Given the description of an element on the screen output the (x, y) to click on. 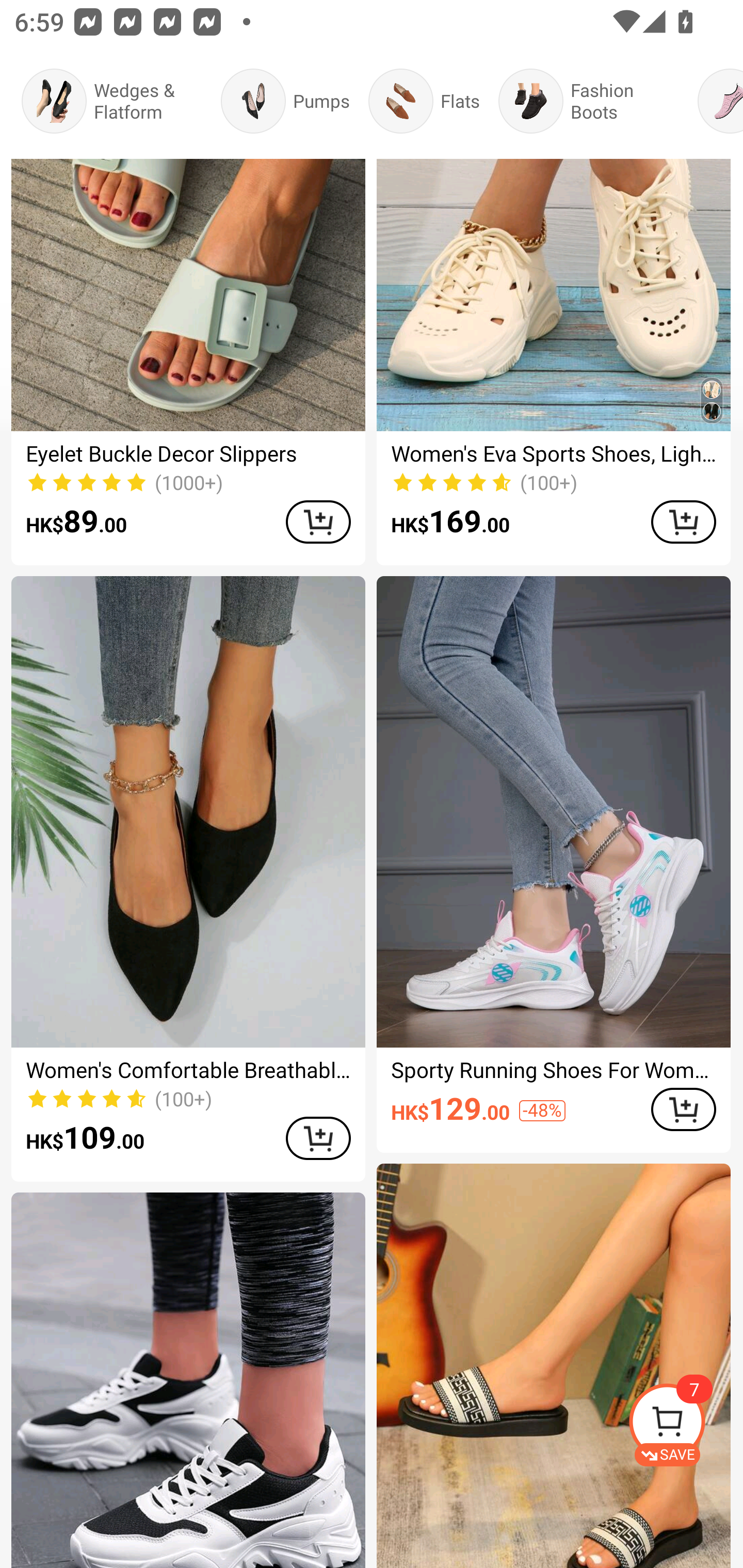
Wedges & Flatform (111, 100)
Pumps (284, 100)
Flats (423, 100)
Fashion Boots (588, 100)
ADD TO CART (318, 522)
ADD TO CART (683, 522)
ADD TO CART (683, 1109)
ADD TO CART (318, 1138)
Two Tone Lace-up Front Chunky Sneakers (188, 1380)
SAVE (685, 1424)
